Given the description of an element on the screen output the (x, y) to click on. 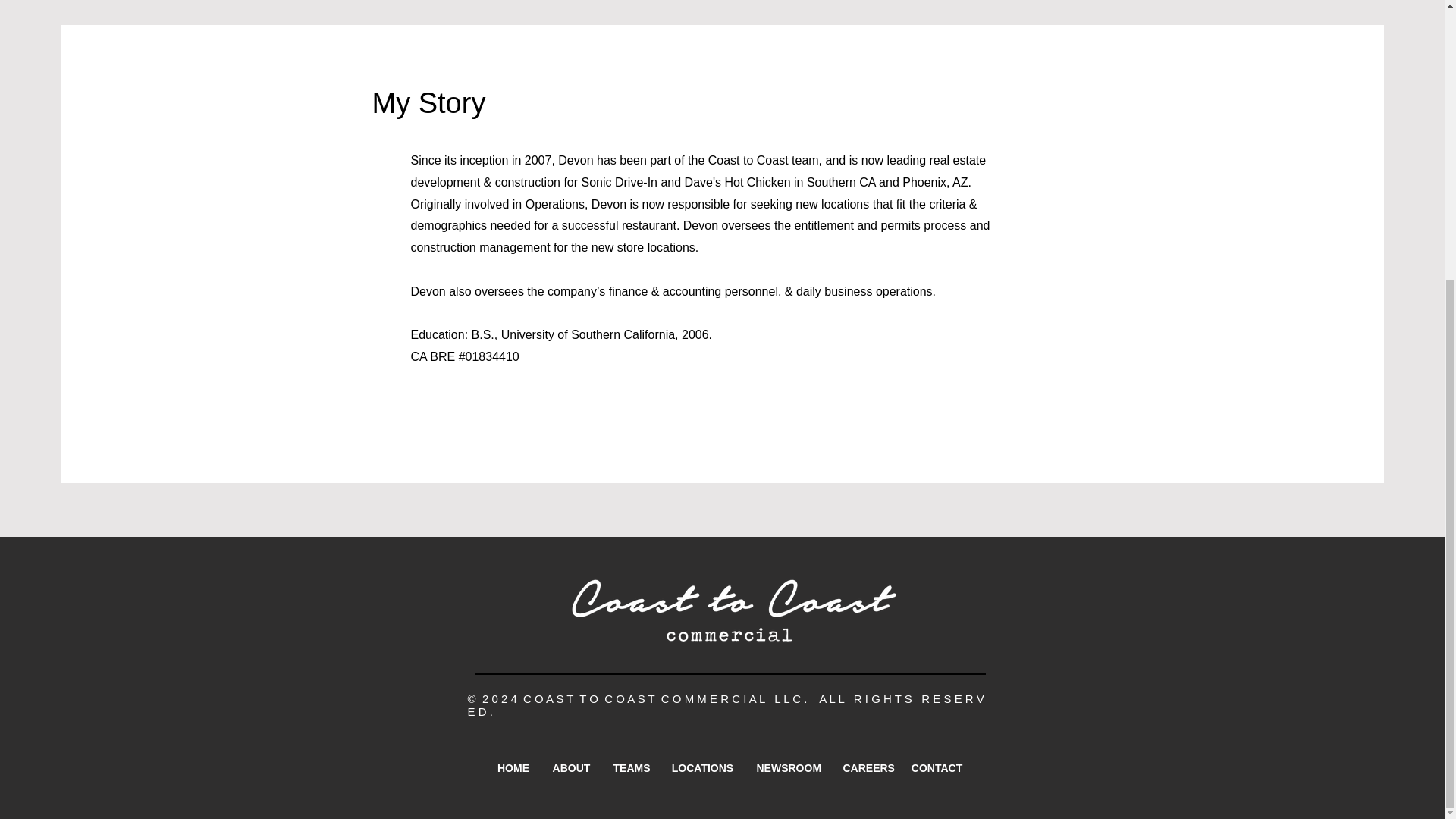
LOCATIONS (701, 766)
ABOUT (571, 766)
CAREERS (865, 766)
HOME (512, 766)
TEAMS (631, 766)
NEWSROOM (787, 766)
CONTACT (936, 766)
